Given the description of an element on the screen output the (x, y) to click on. 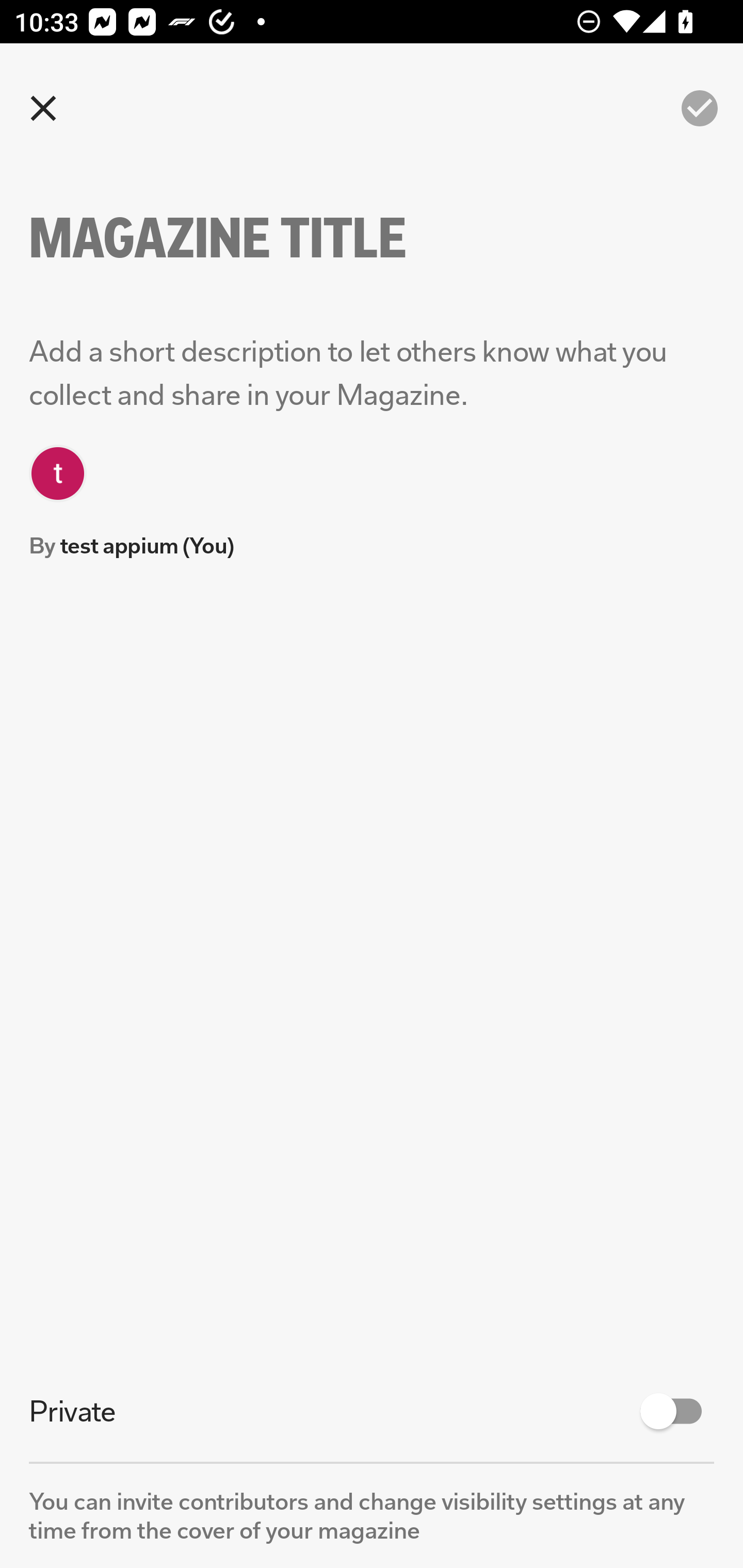
MAGAZINE TITLE (252, 238)
Private (371, 1411)
